Given the description of an element on the screen output the (x, y) to click on. 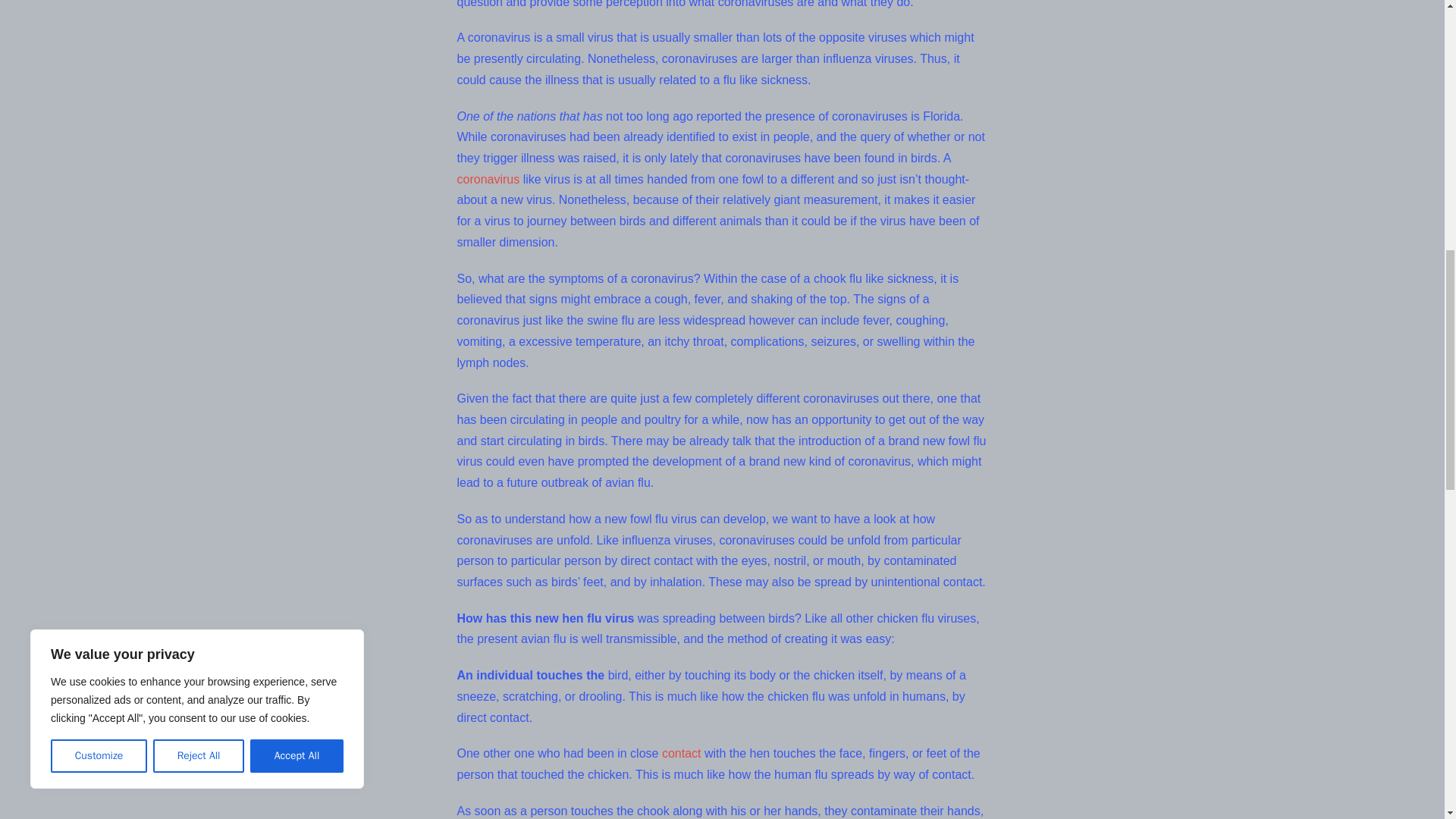
contact (681, 753)
coronavirus (488, 178)
